Given the description of an element on the screen output the (x, y) to click on. 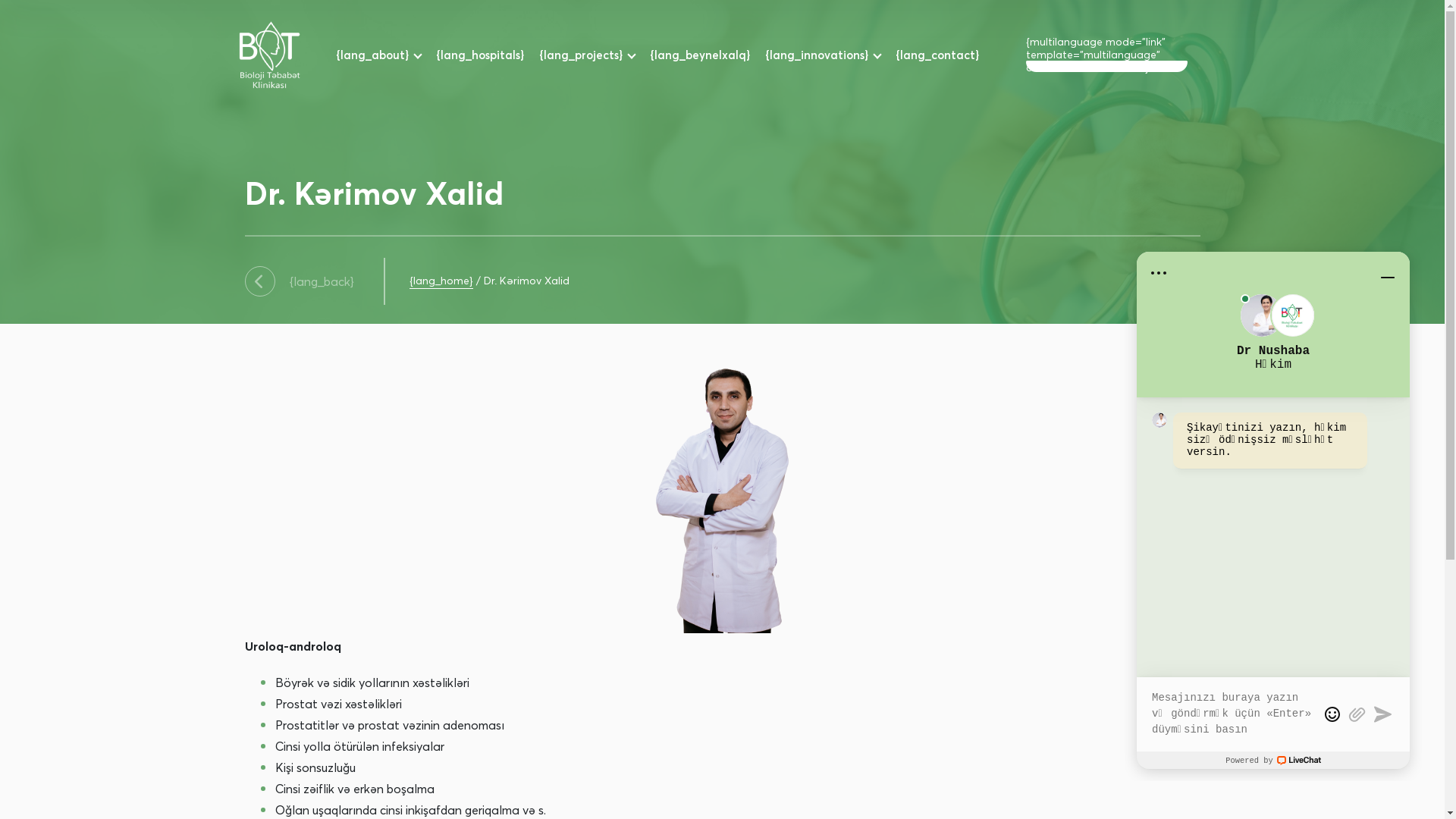
LiveChat chat widget Element type: hover (1272, 510)
